Given the description of an element on the screen output the (x, y) to click on. 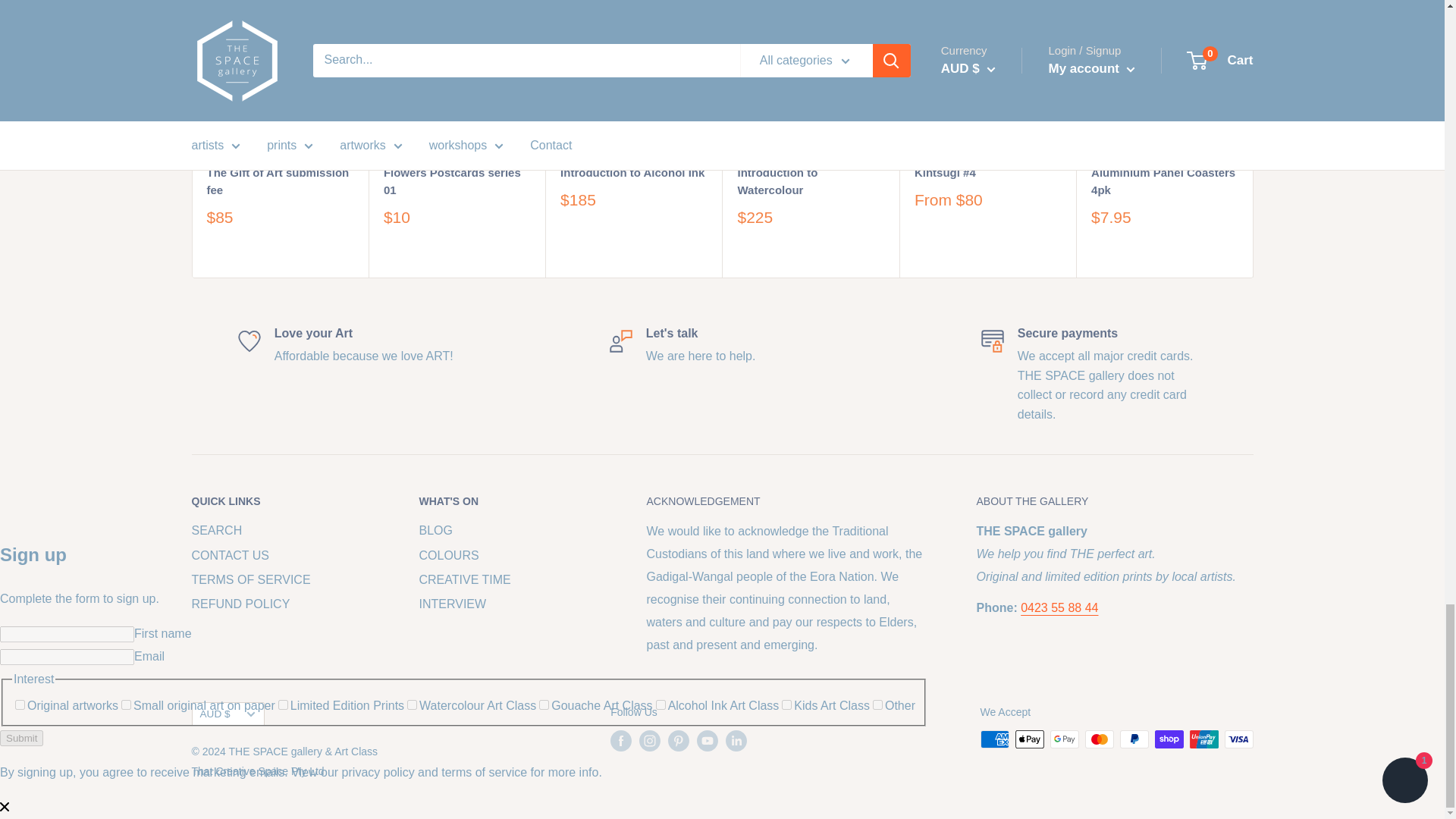
tel:0423 55 88 44 (1058, 607)
